Given the description of an element on the screen output the (x, y) to click on. 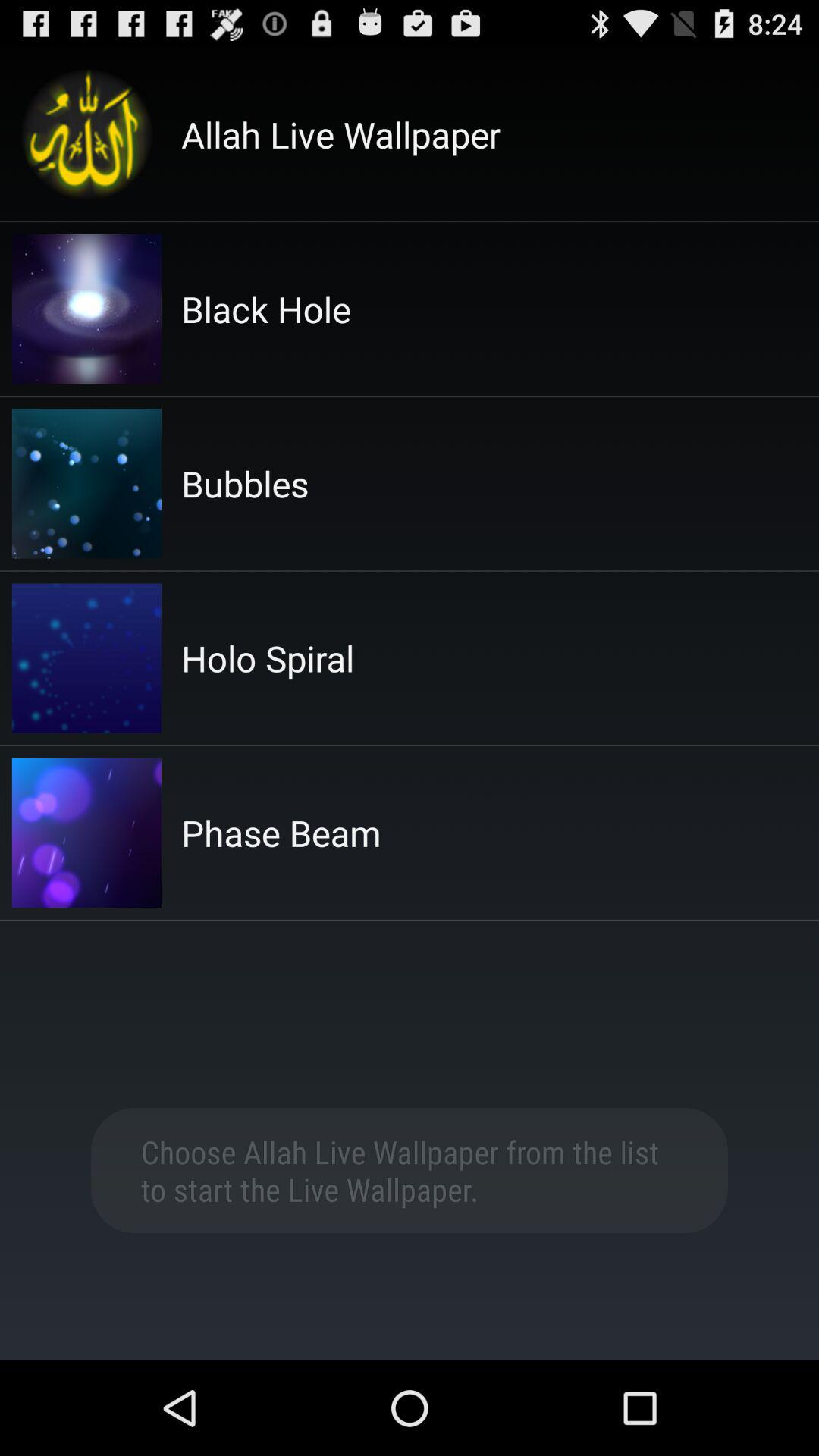
choose the bubbles (244, 483)
